Given the description of an element on the screen output the (x, y) to click on. 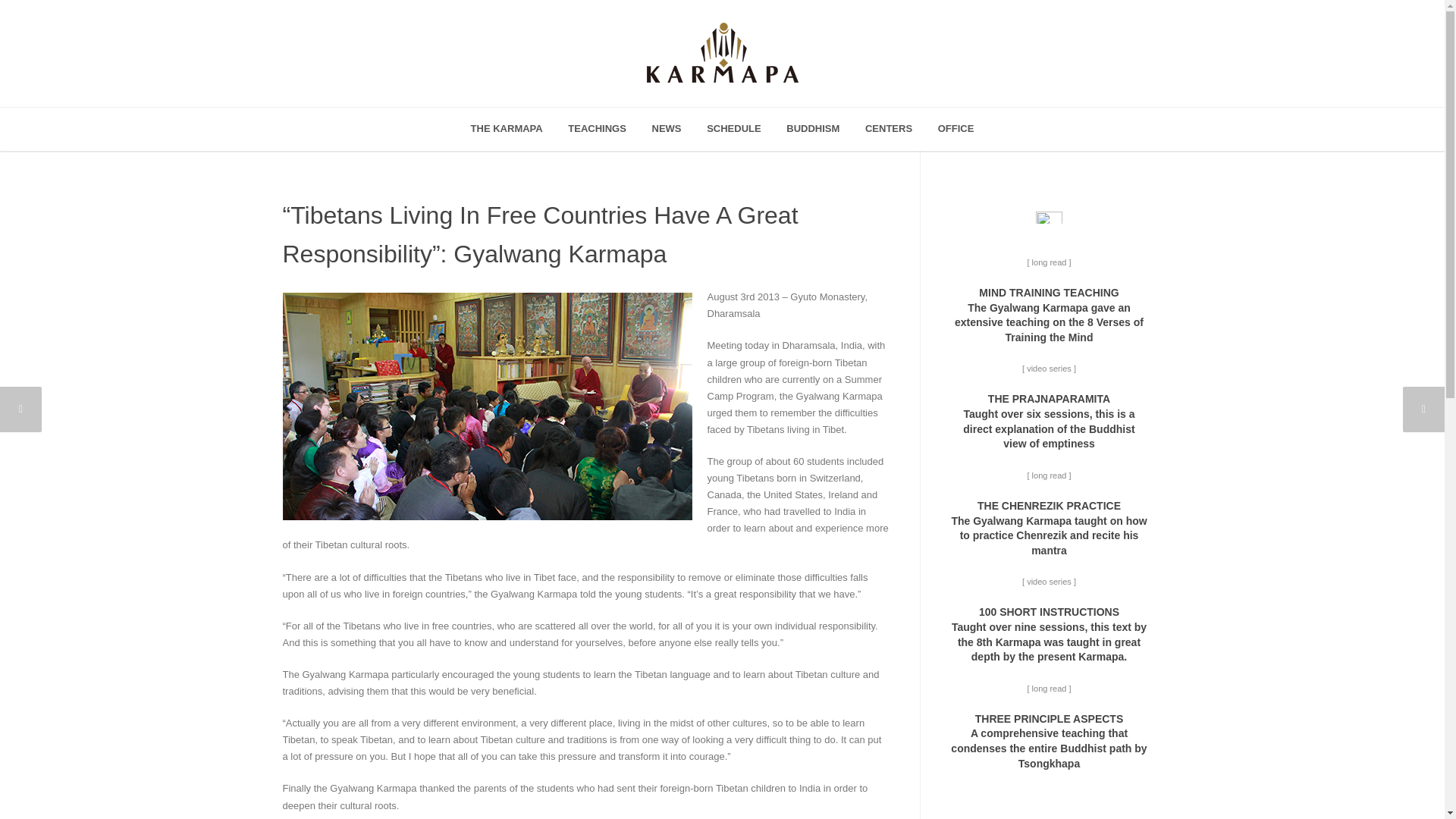
SCHEDULE (734, 128)
THE KARMAPA (507, 128)
NEWS (666, 128)
BUDDHISM (812, 128)
CENTERS (888, 128)
TEACHINGS (596, 128)
OFFICE (955, 128)
